Given the description of an element on the screen output the (x, y) to click on. 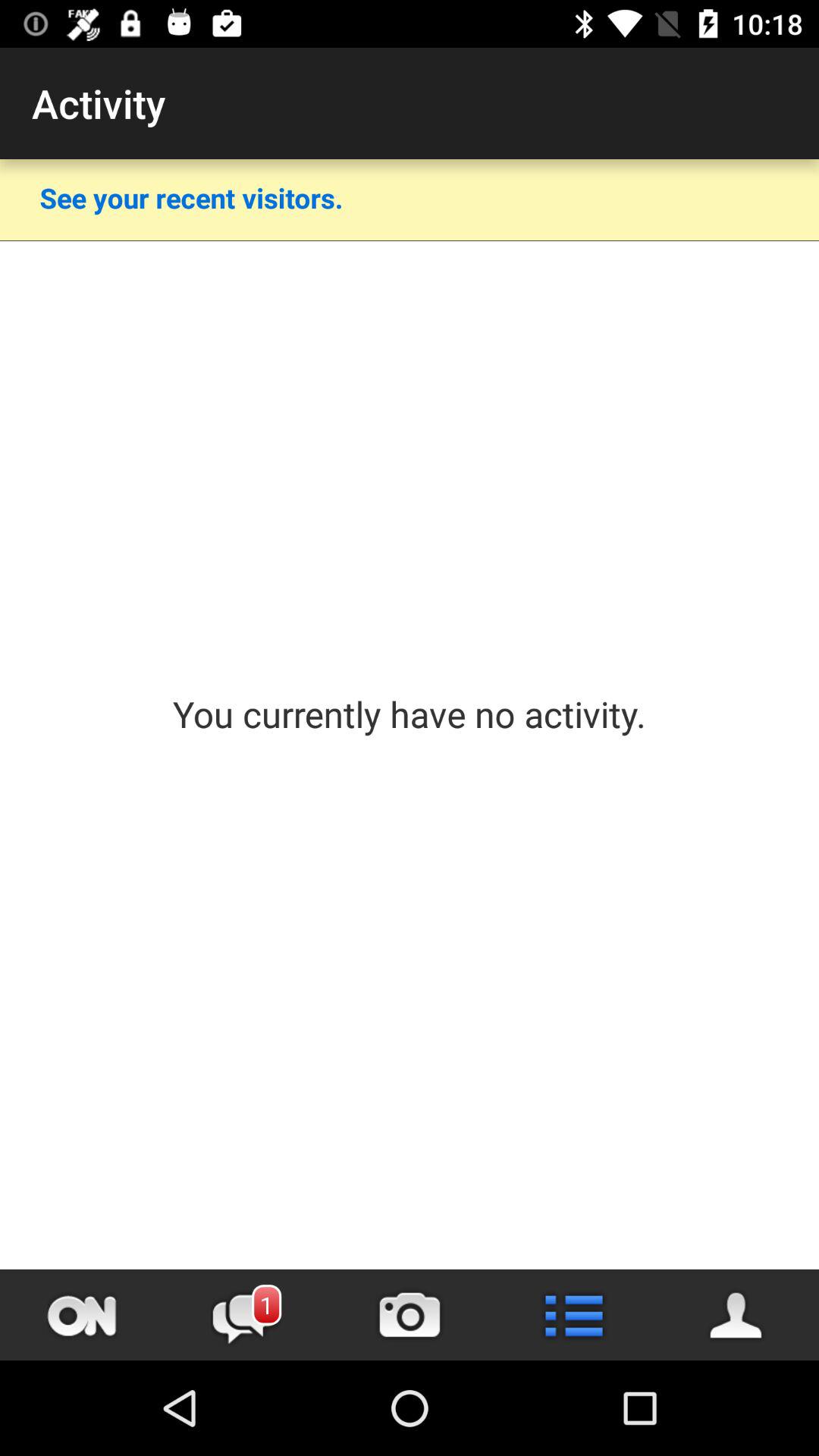
change setting (573, 1315)
